Given the description of an element on the screen output the (x, y) to click on. 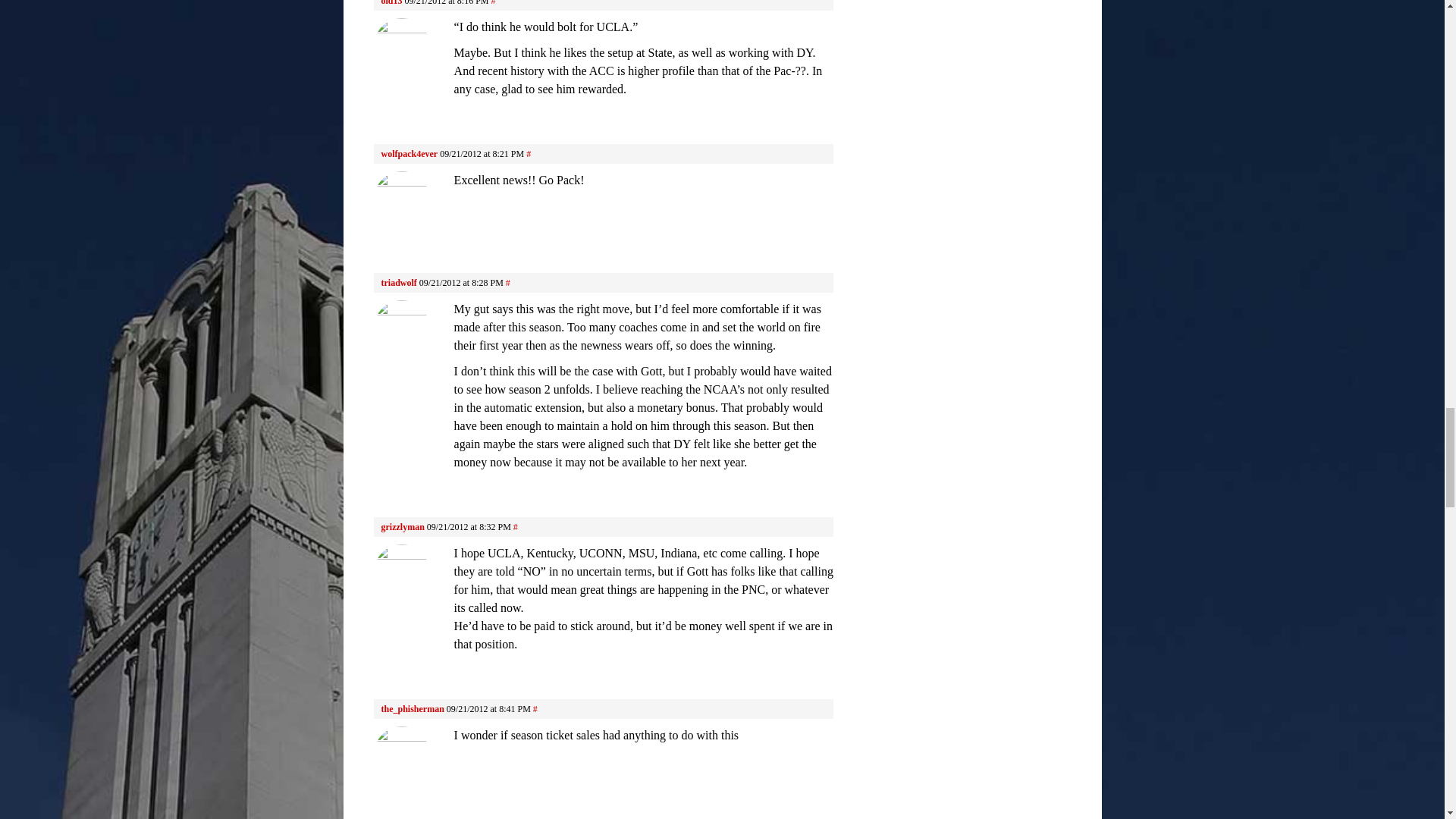
Direct link to this comment (508, 282)
Direct link to this comment (528, 153)
